Given the description of an element on the screen output the (x, y) to click on. 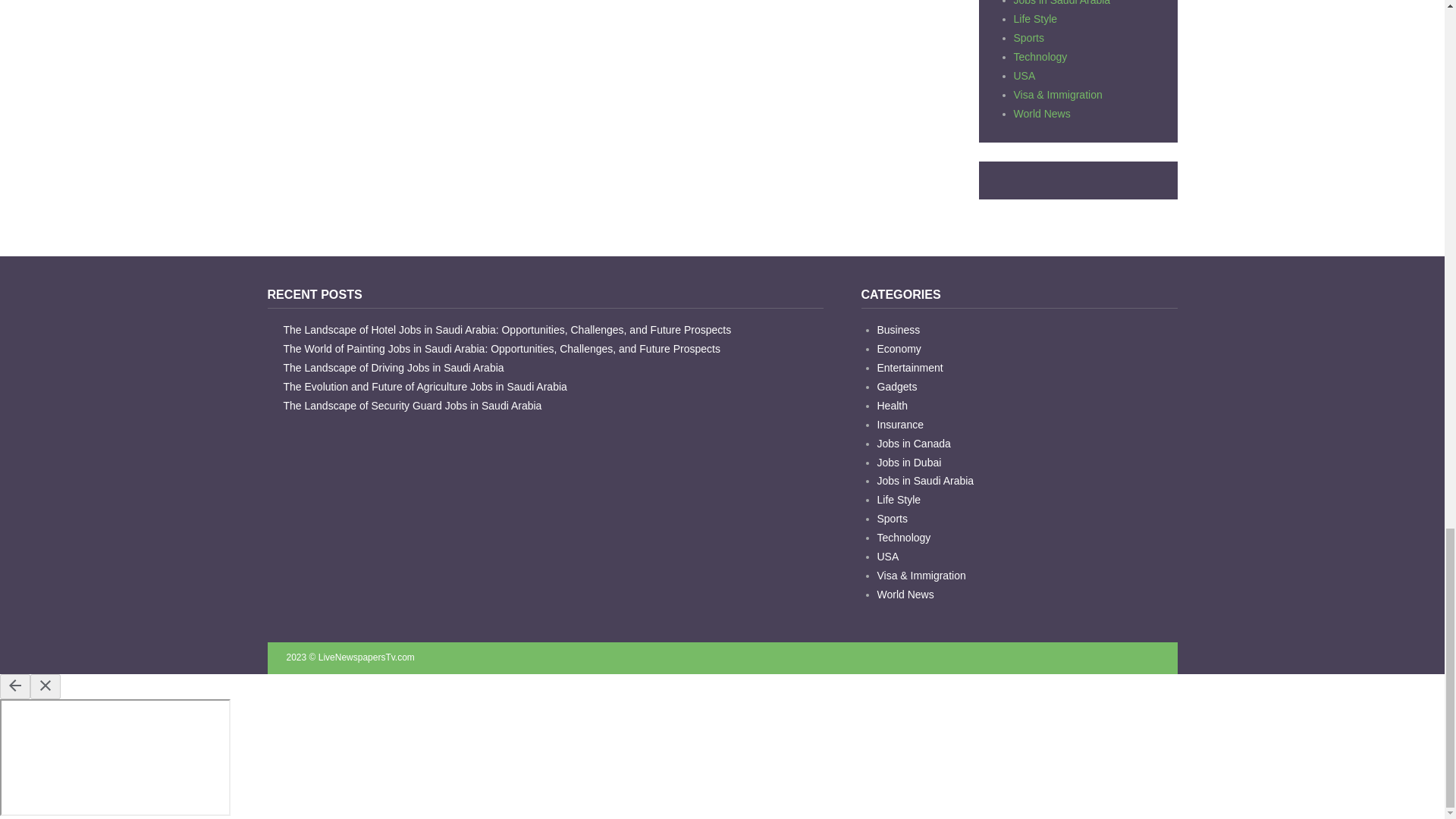
Jobs in Saudi Arabia (1061, 2)
